Given the description of an element on the screen output the (x, y) to click on. 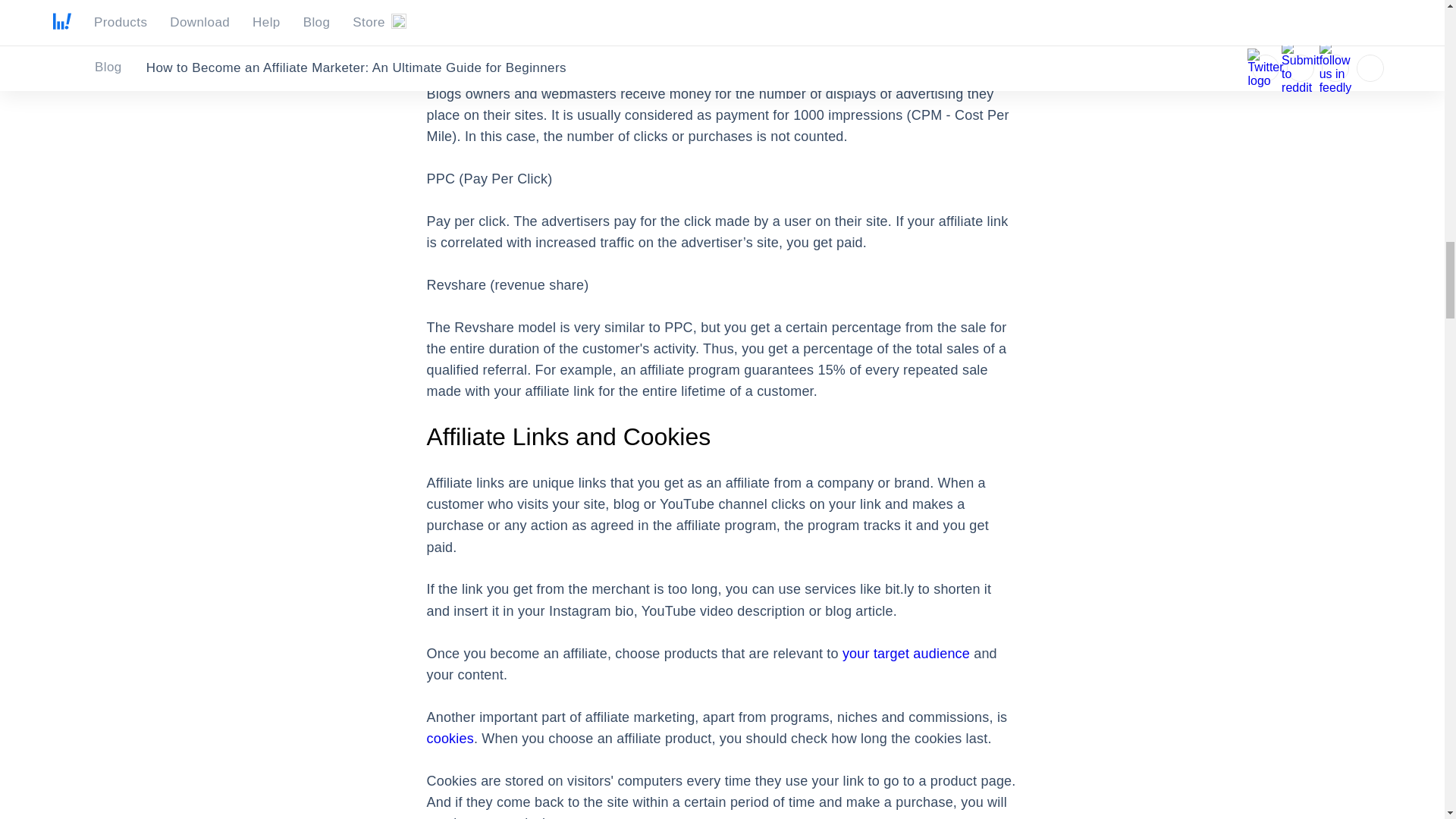
your target audience (906, 653)
cookies (449, 738)
